Given the description of an element on the screen output the (x, y) to click on. 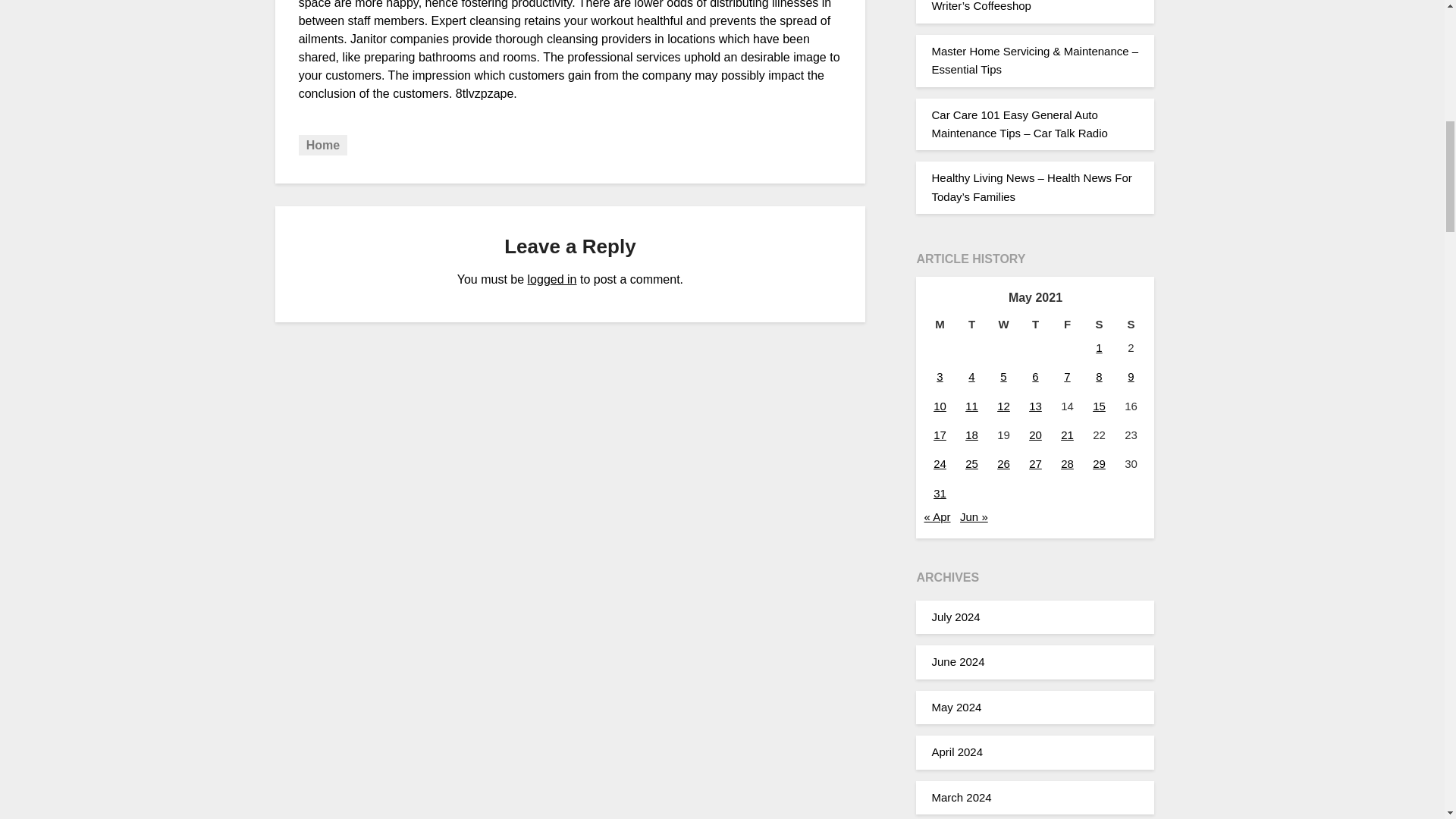
1 (1099, 347)
25 (971, 463)
Tuesday (971, 324)
6 (1035, 376)
28 (1067, 463)
Saturday (1099, 324)
26 (1003, 463)
29 (1099, 463)
Sunday (1131, 324)
24 (939, 463)
10 (939, 405)
4 (971, 376)
Friday (1067, 324)
Monday (939, 324)
21 (1067, 434)
